Given the description of an element on the screen output the (x, y) to click on. 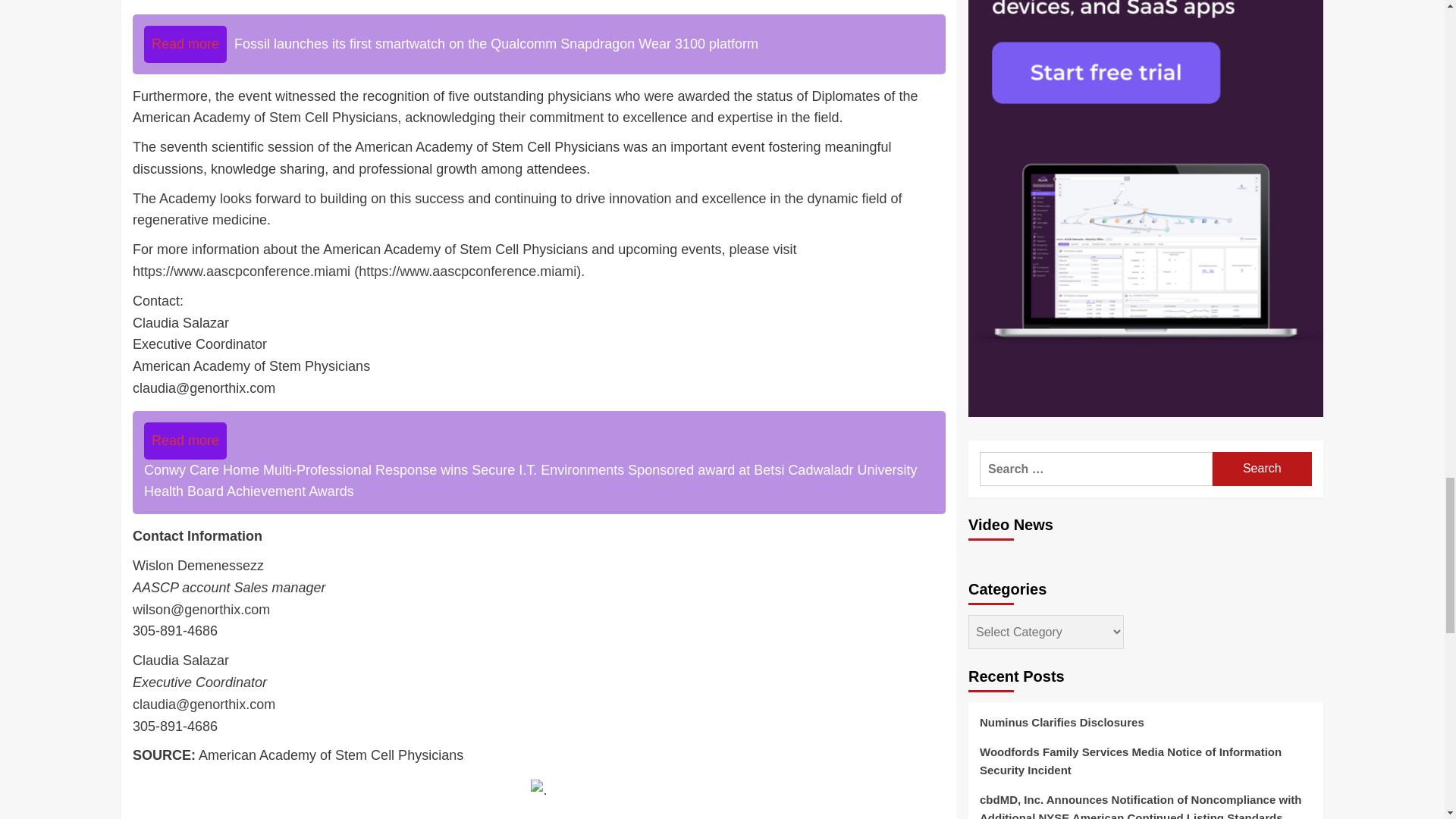
press release (276, 817)
